Given the description of an element on the screen output the (x, y) to click on. 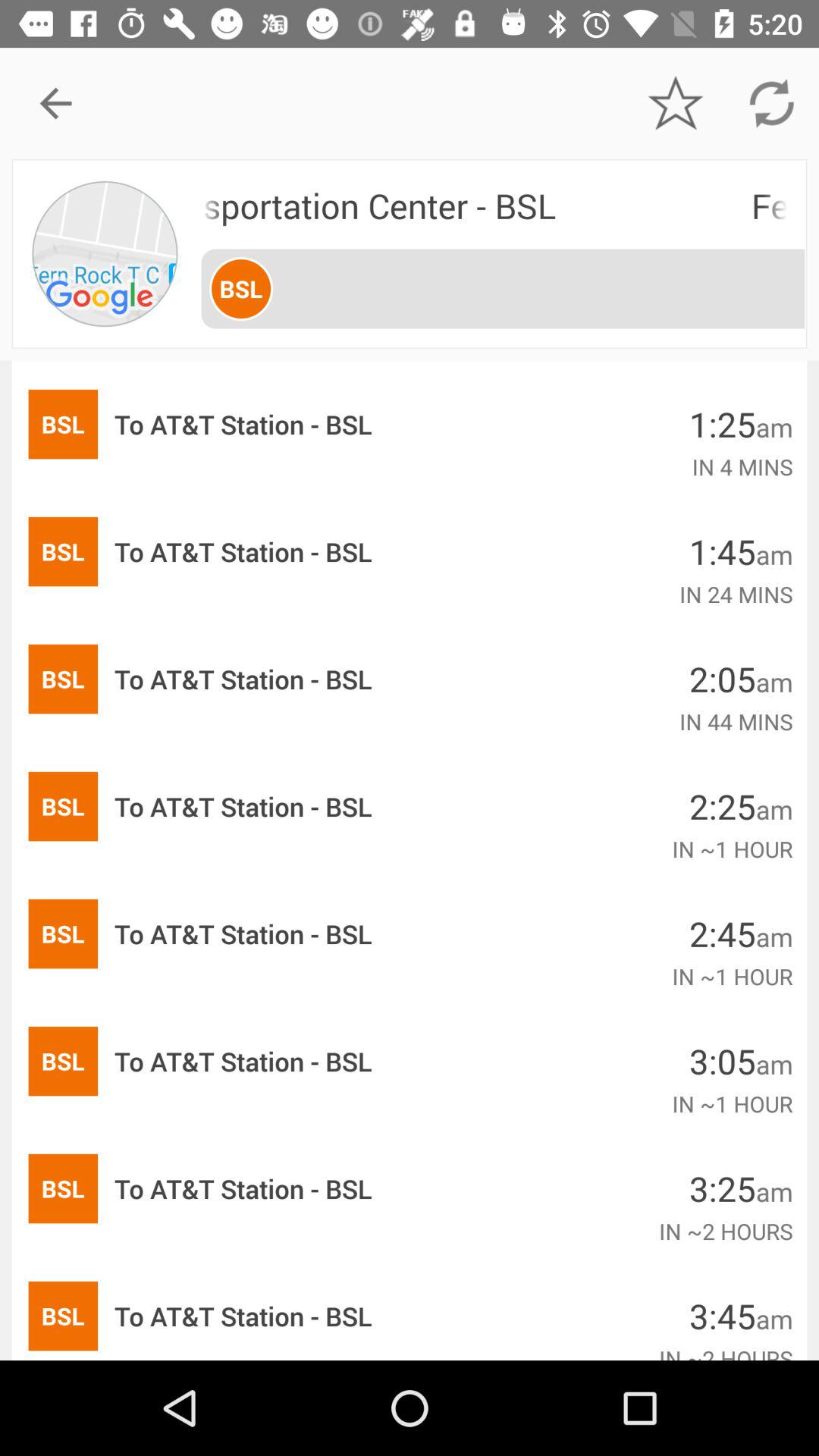
click item to the left of the fern rock transportation icon (106, 253)
